Given the description of an element on the screen output the (x, y) to click on. 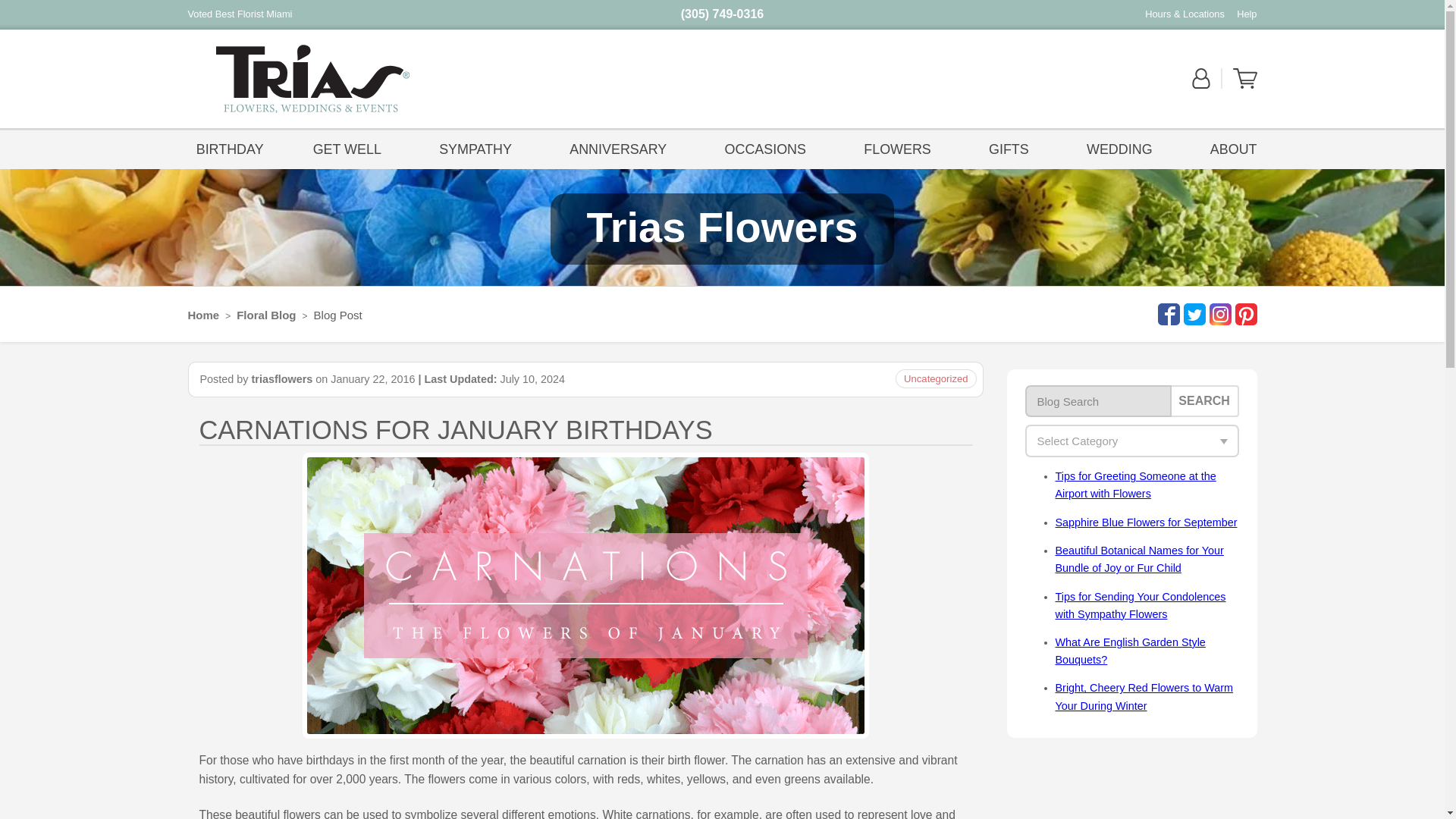
User Account (1200, 85)
Uncategorized (935, 378)
Shopping Cart (1245, 85)
GET WELL (351, 147)
Facebook (1166, 314)
ANNIVERSARY (617, 147)
Trias Flowers Logo (312, 79)
Shopping Cart (1245, 78)
WEDDING (1119, 147)
Home (203, 314)
BIRTHDAY (229, 147)
Instagram (1218, 314)
GIFTS (1007, 147)
ABOUT (1229, 147)
Twitter (1192, 314)
